Given the description of an element on the screen output the (x, y) to click on. 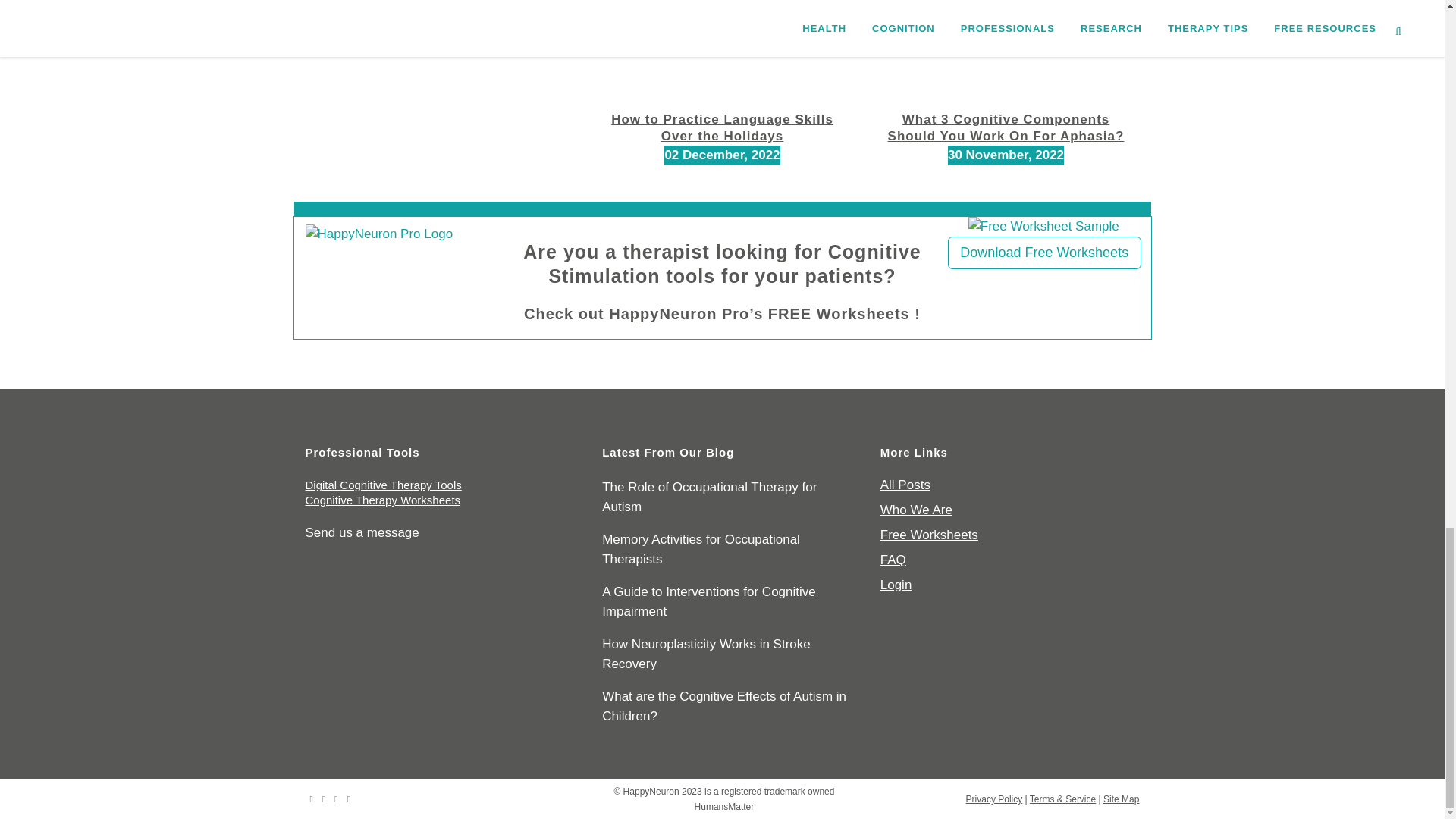
How to Practice Language Skills Over the Holidays (721, 127)
What is Neuroplasticity, and why is it important? (438, 6)
Free Worksheet Sample (1043, 226)
What 3 Cognitive Components Should You Work On For Aphasia? (1006, 127)
HappyNeuron Pro Logo (378, 234)
